Given the description of an element on the screen output the (x, y) to click on. 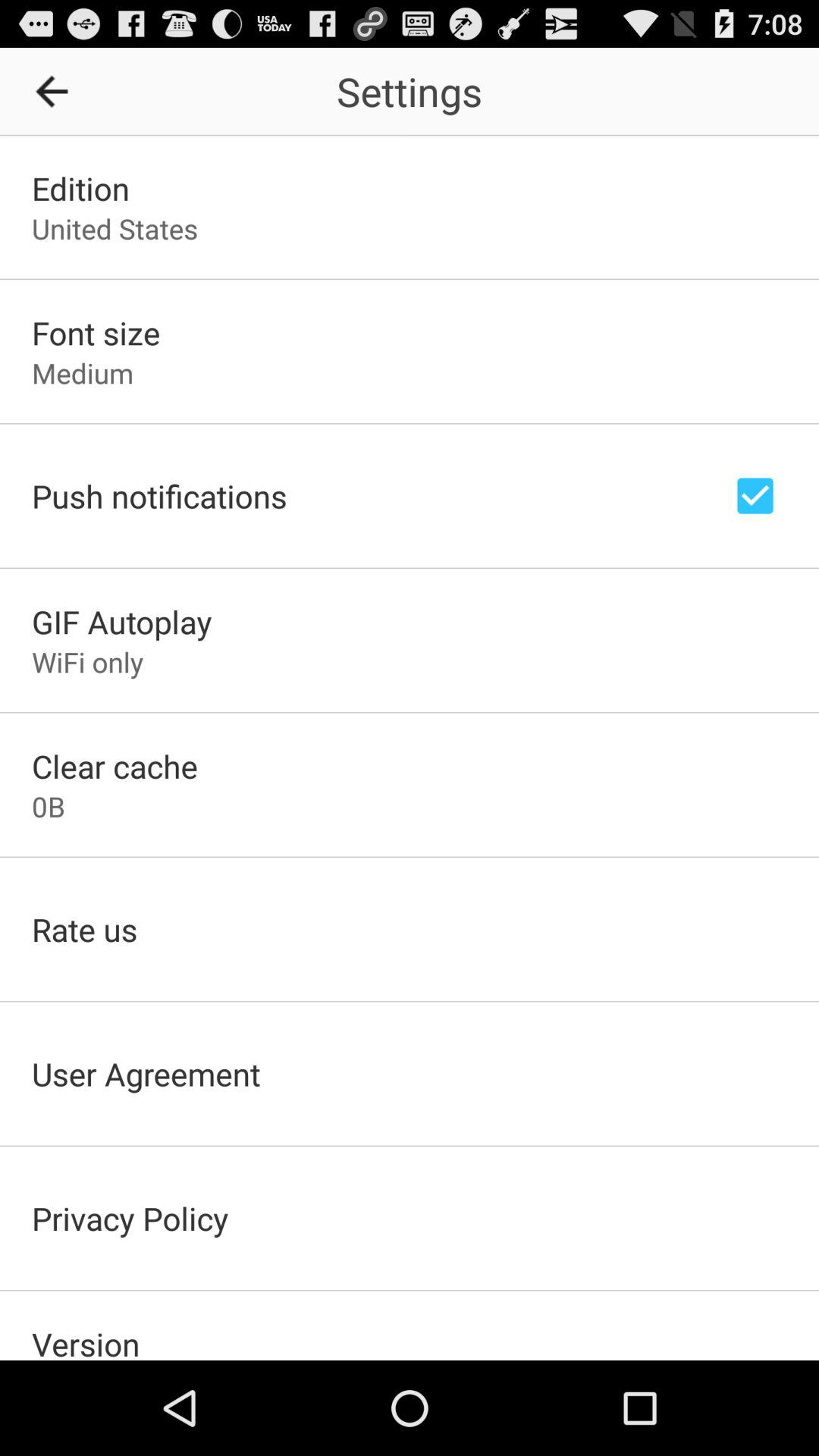
scroll until item (57, 91)
